Given the description of an element on the screen output the (x, y) to click on. 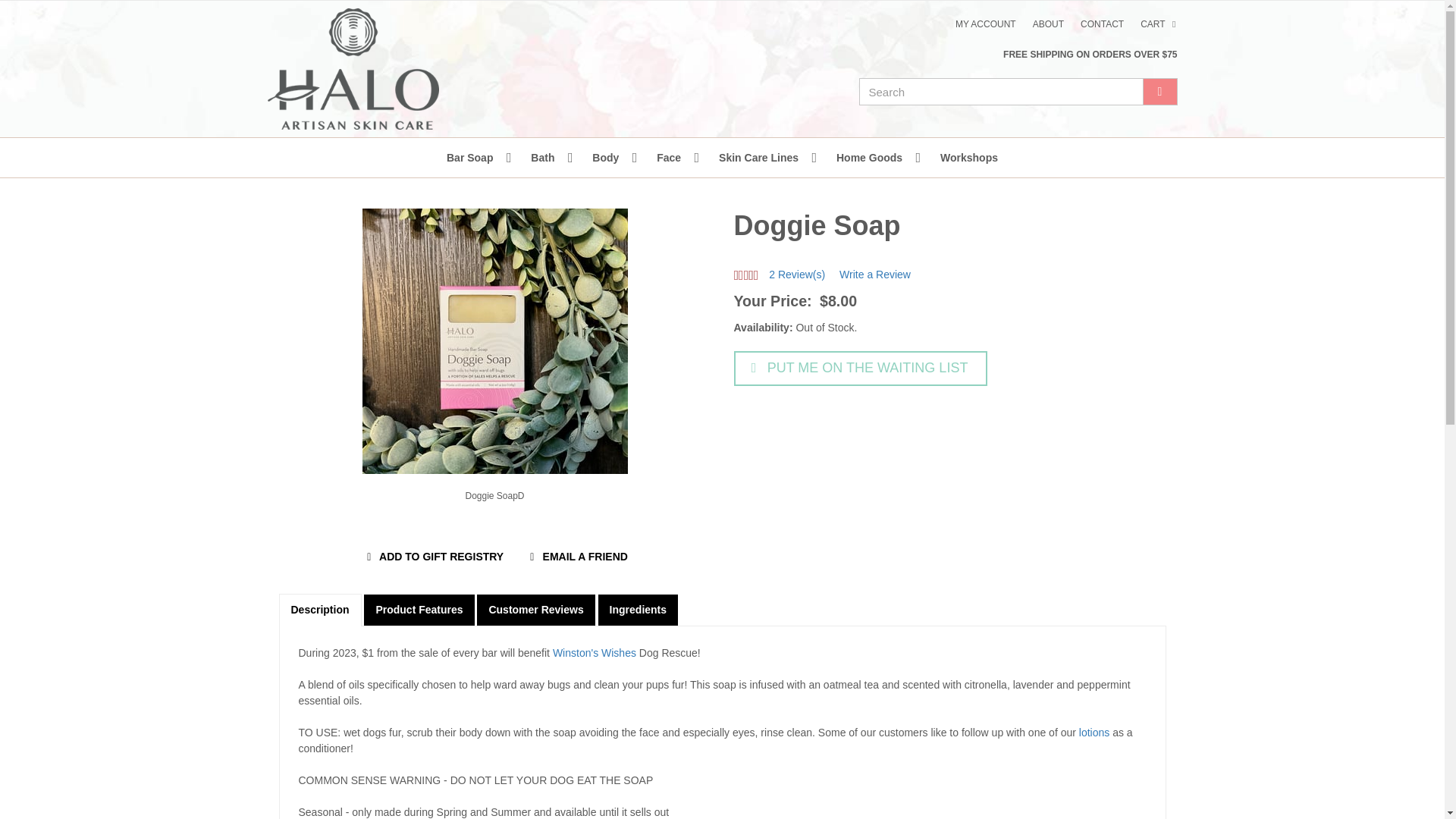
Face (672, 157)
MY ACCOUNT (986, 24)
CART (1160, 24)
Body (609, 157)
ABOUT (1048, 24)
Bath (545, 157)
Skin Care Lines (761, 157)
Doggie SoapD  (495, 495)
Bar Soap (472, 157)
CONTACT (1101, 24)
